Given the description of an element on the screen output the (x, y) to click on. 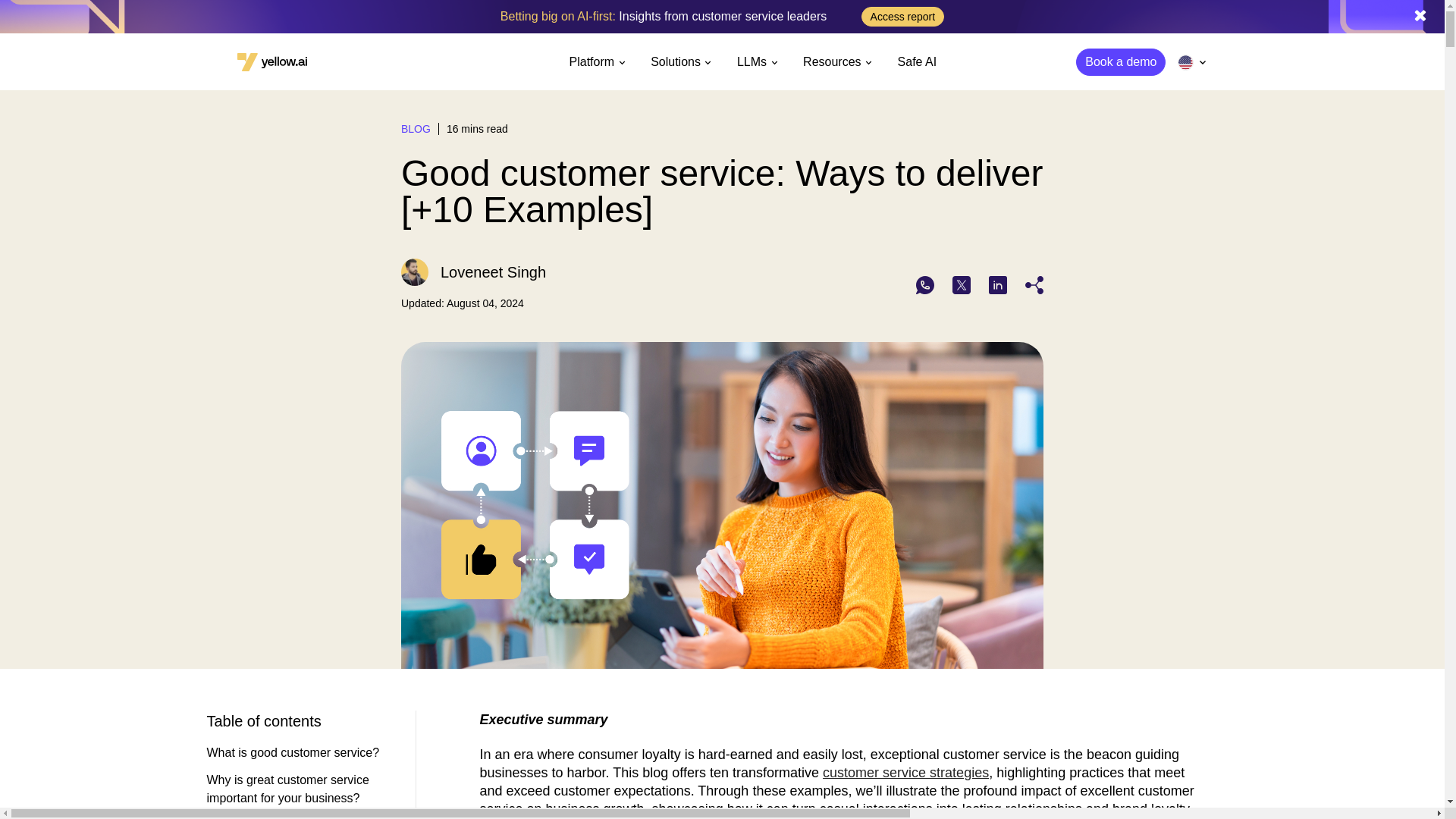
Share this page on Twitter (961, 285)
Safe AI (917, 62)
Access report (902, 16)
Share this page on Linkedin (997, 285)
Share this page on Whatsapp (924, 285)
Share this page on other sites (1034, 285)
